Given the description of an element on the screen output the (x, y) to click on. 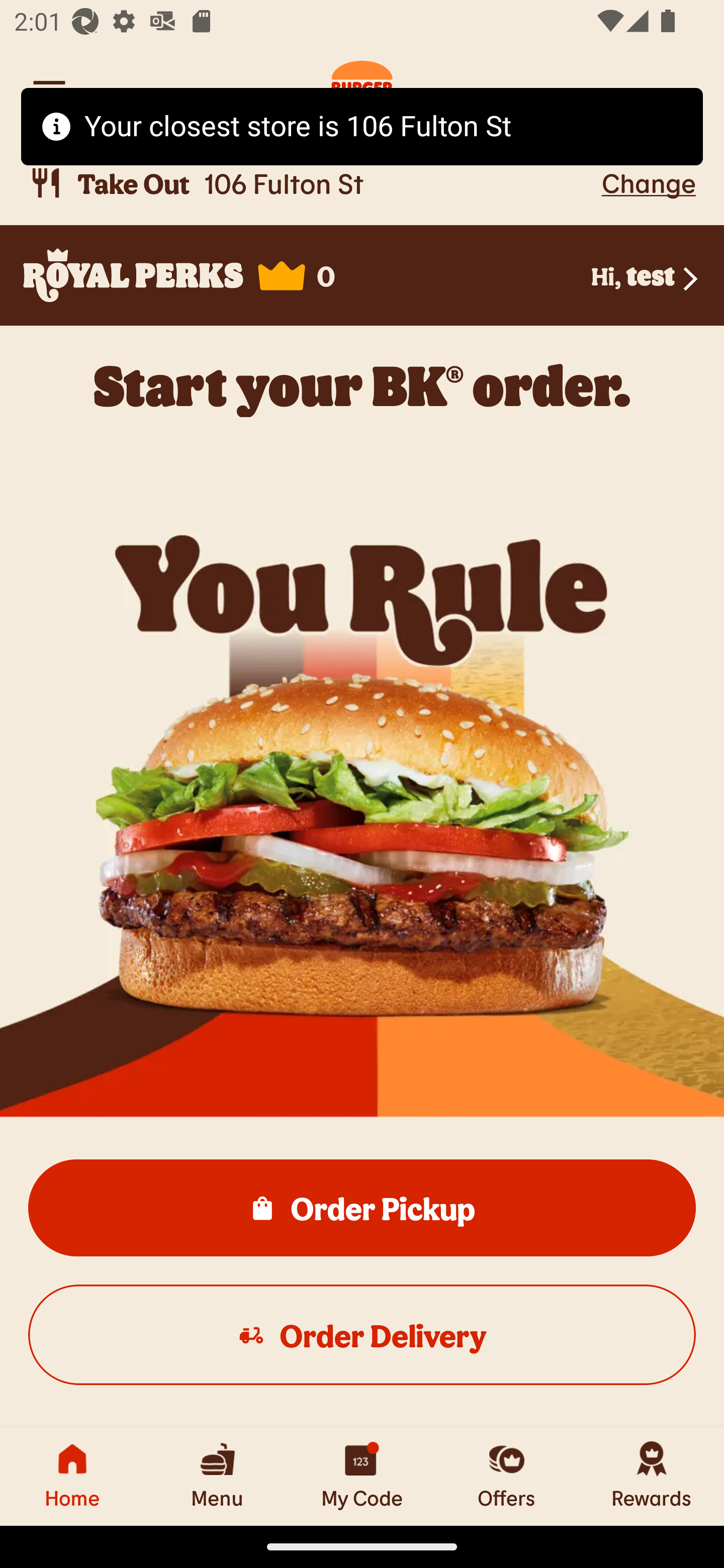
Change (648, 182)
Start your BK® order. (361, 385)
, Order Pickup  Order Pickup (361, 1206)
, Order Delivery  Order Delivery (361, 1334)
Home (72, 1475)
Menu (216, 1475)
My Code (361, 1475)
Offers (506, 1475)
Rewards (651, 1475)
